Given the description of an element on the screen output the (x, y) to click on. 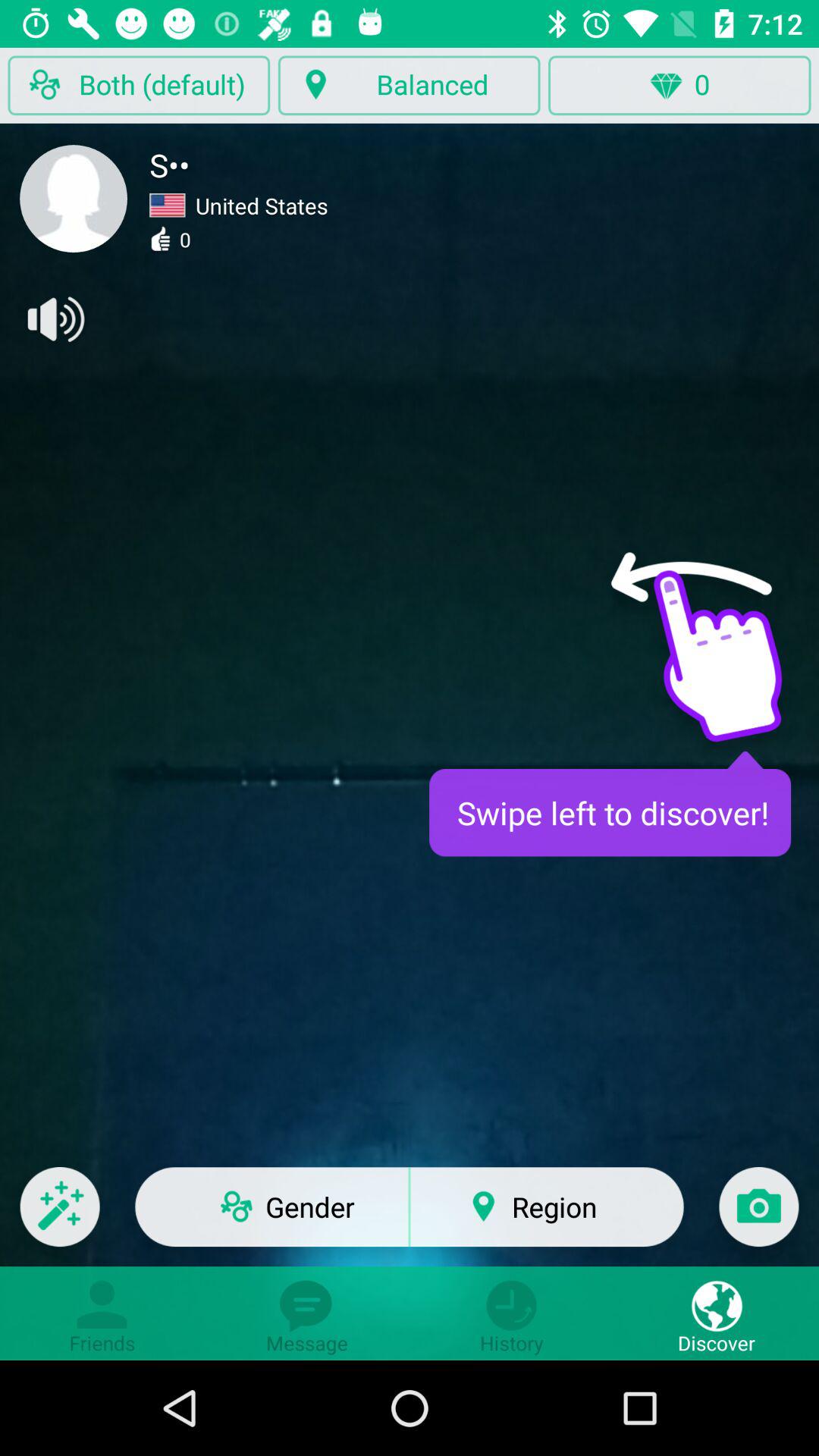
tap the item below the swipe left to item (758, 1216)
